Given the description of an element on the screen output the (x, y) to click on. 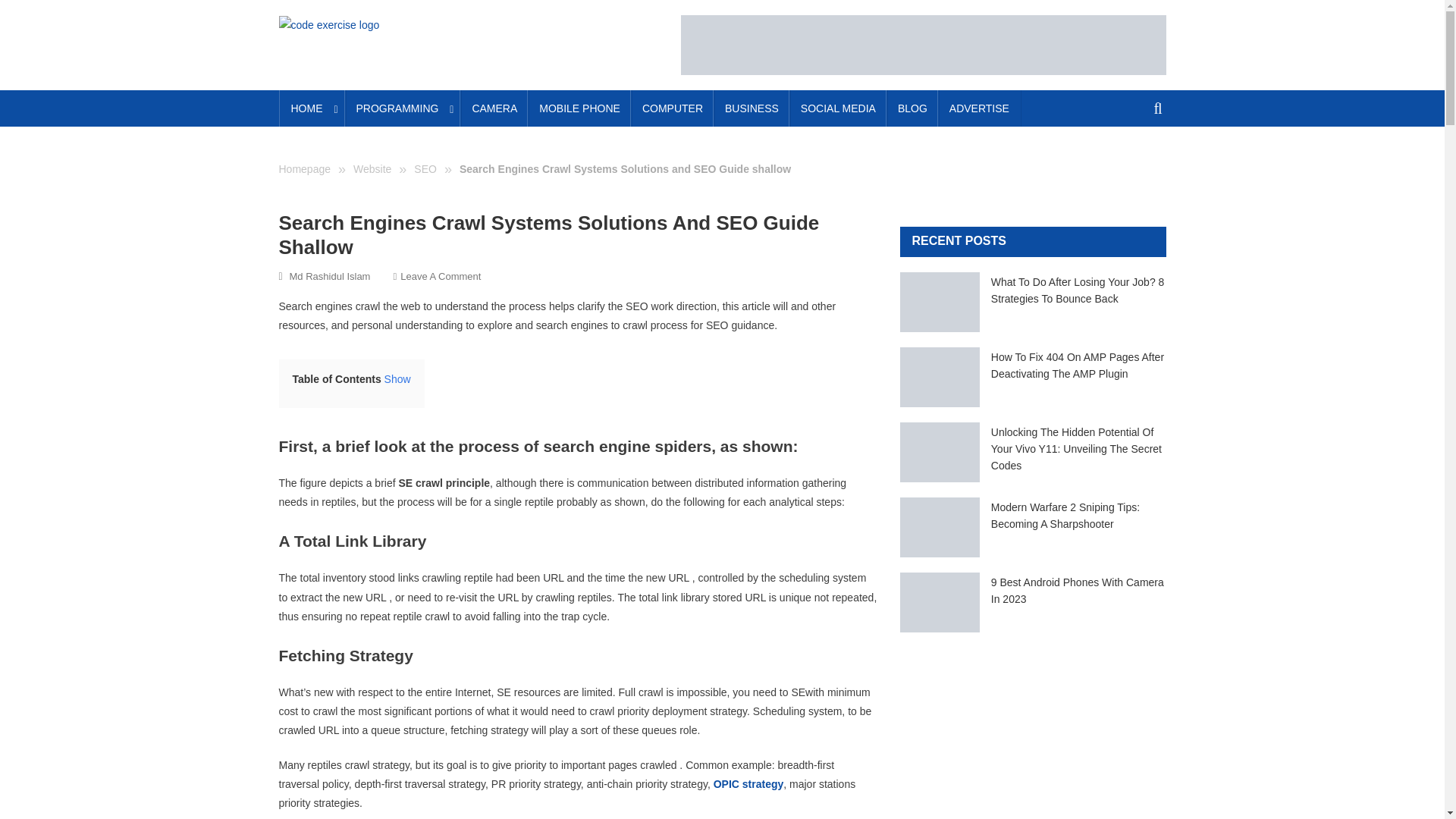
ADVERTISE (979, 108)
SEO (424, 168)
Website (372, 168)
Show (397, 378)
CAMERA (494, 108)
Search Engines Crawl Systems Solutions and SEO Guide shallow (625, 168)
HOME (312, 108)
Blog (912, 108)
PROGRAMMING (403, 108)
